Given the description of an element on the screen output the (x, y) to click on. 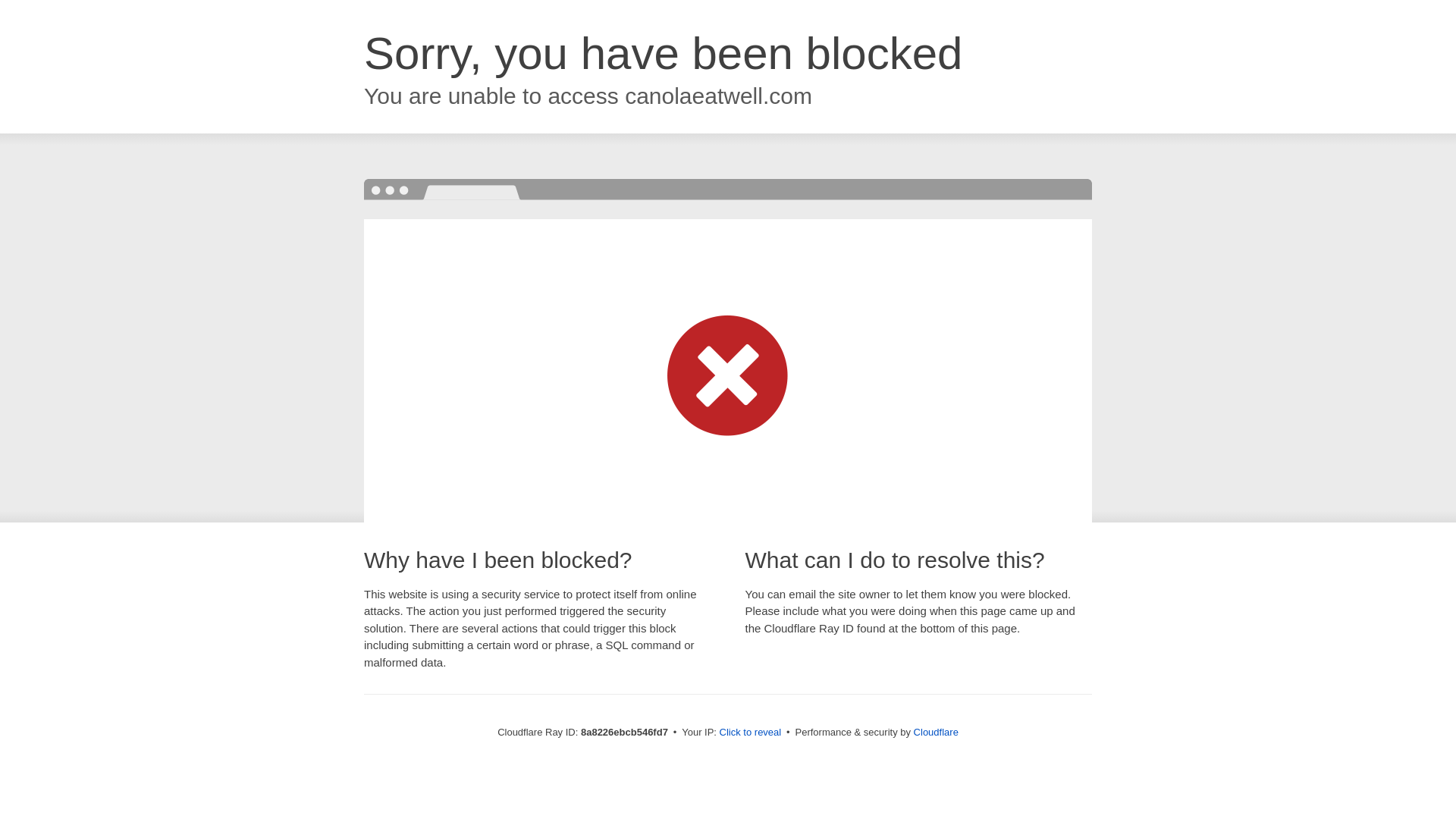
Cloudflare (936, 731)
Click to reveal (750, 732)
